Given the description of an element on the screen output the (x, y) to click on. 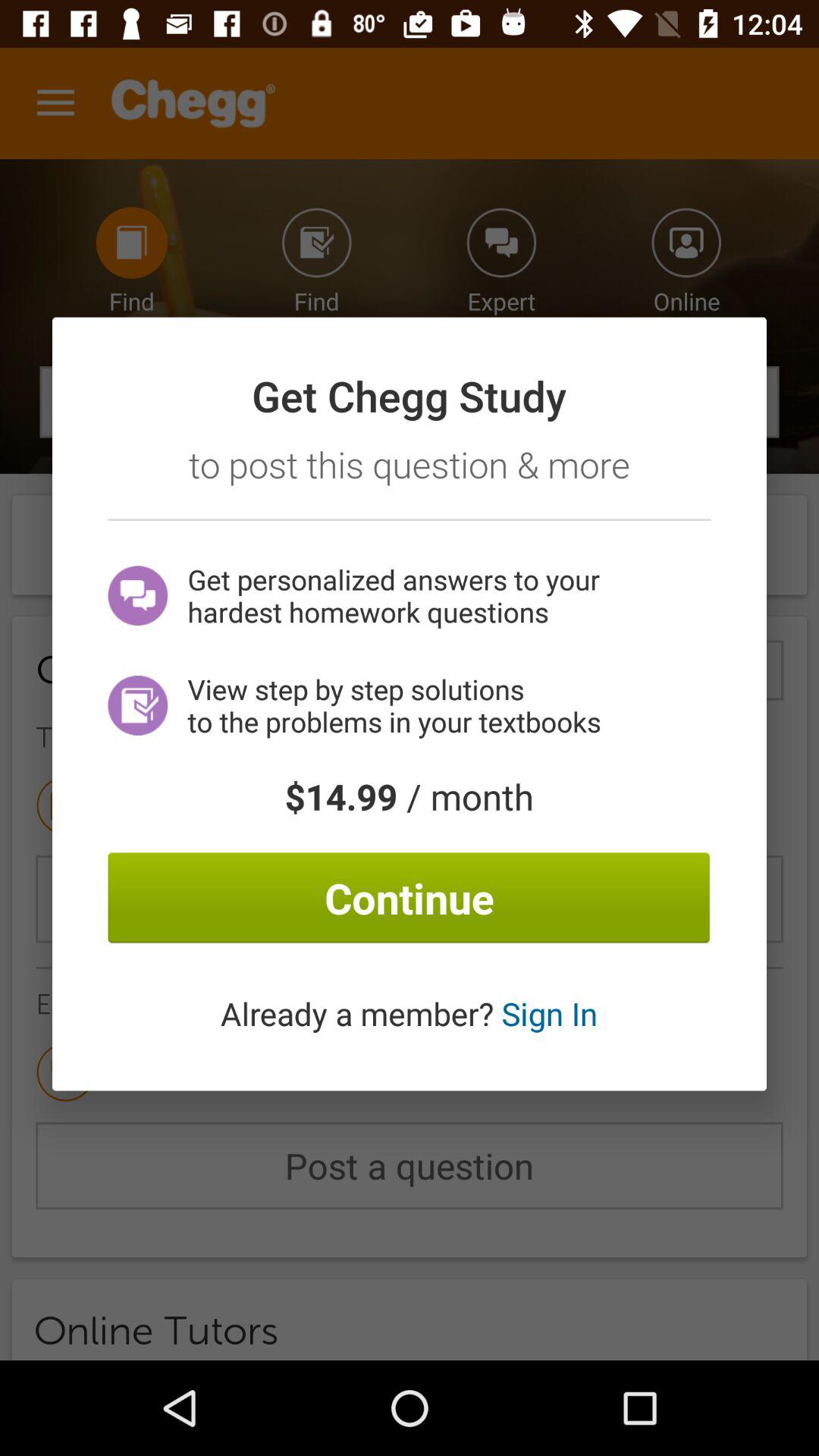
flip to the already a member (408, 1013)
